Given the description of an element on the screen output the (x, y) to click on. 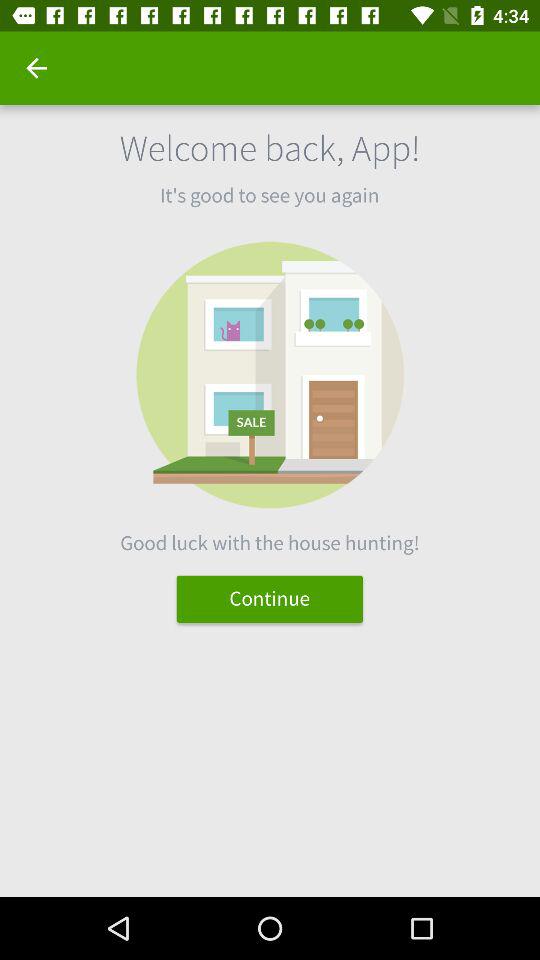
select the continue (269, 598)
